Given the description of an element on the screen output the (x, y) to click on. 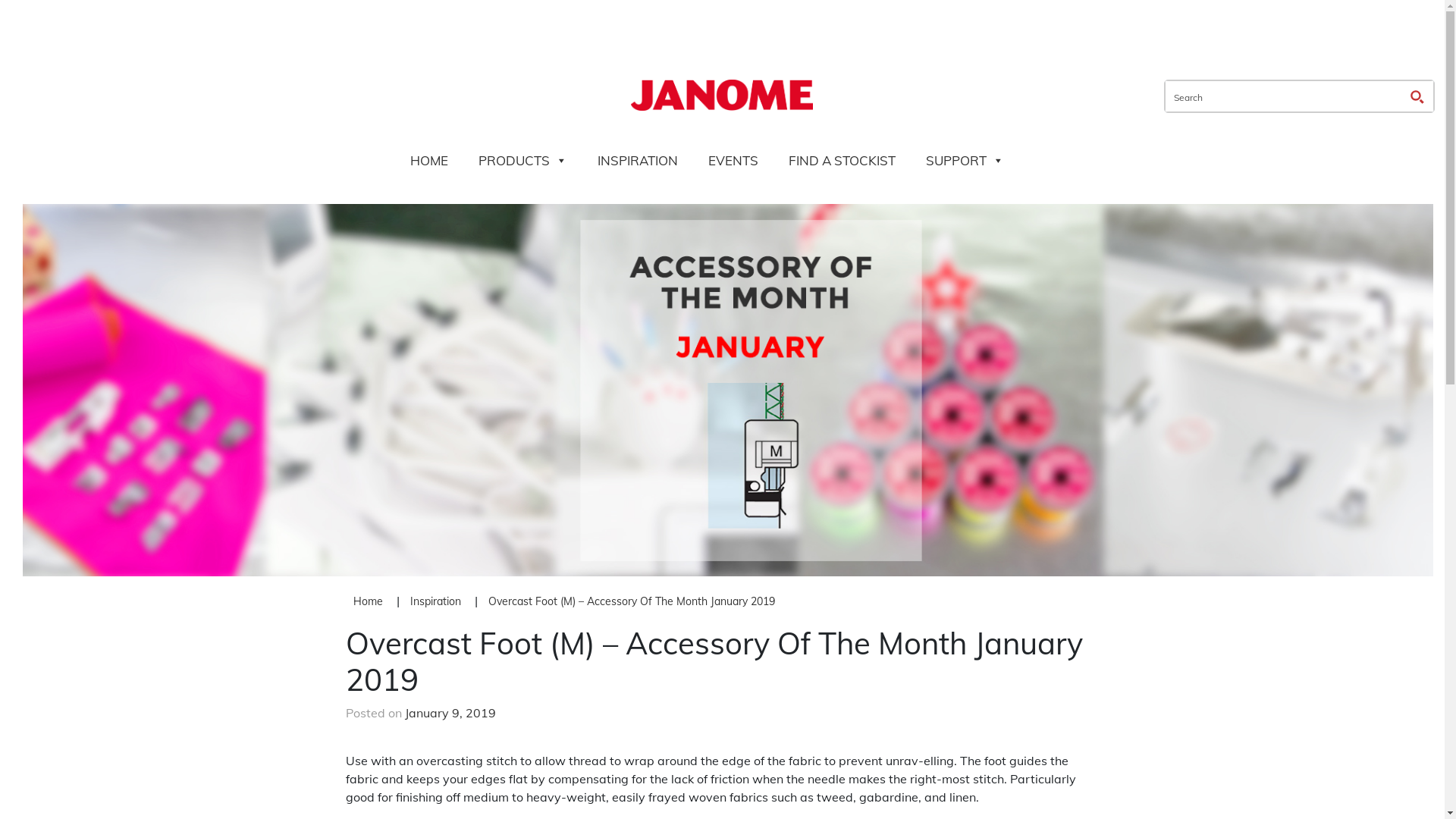
PRODUCTS Element type: text (522, 160)
Home Element type: text (367, 601)
January 9, 2019 Element type: text (449, 712)
INSPIRATION Element type: text (637, 160)
SUPPORT Element type: text (964, 160)
EVENTS Element type: text (733, 160)
HOME Element type: text (429, 160)
FIND A STOCKIST Element type: text (841, 160)
Inspiration Element type: text (434, 601)
